Given the description of an element on the screen output the (x, y) to click on. 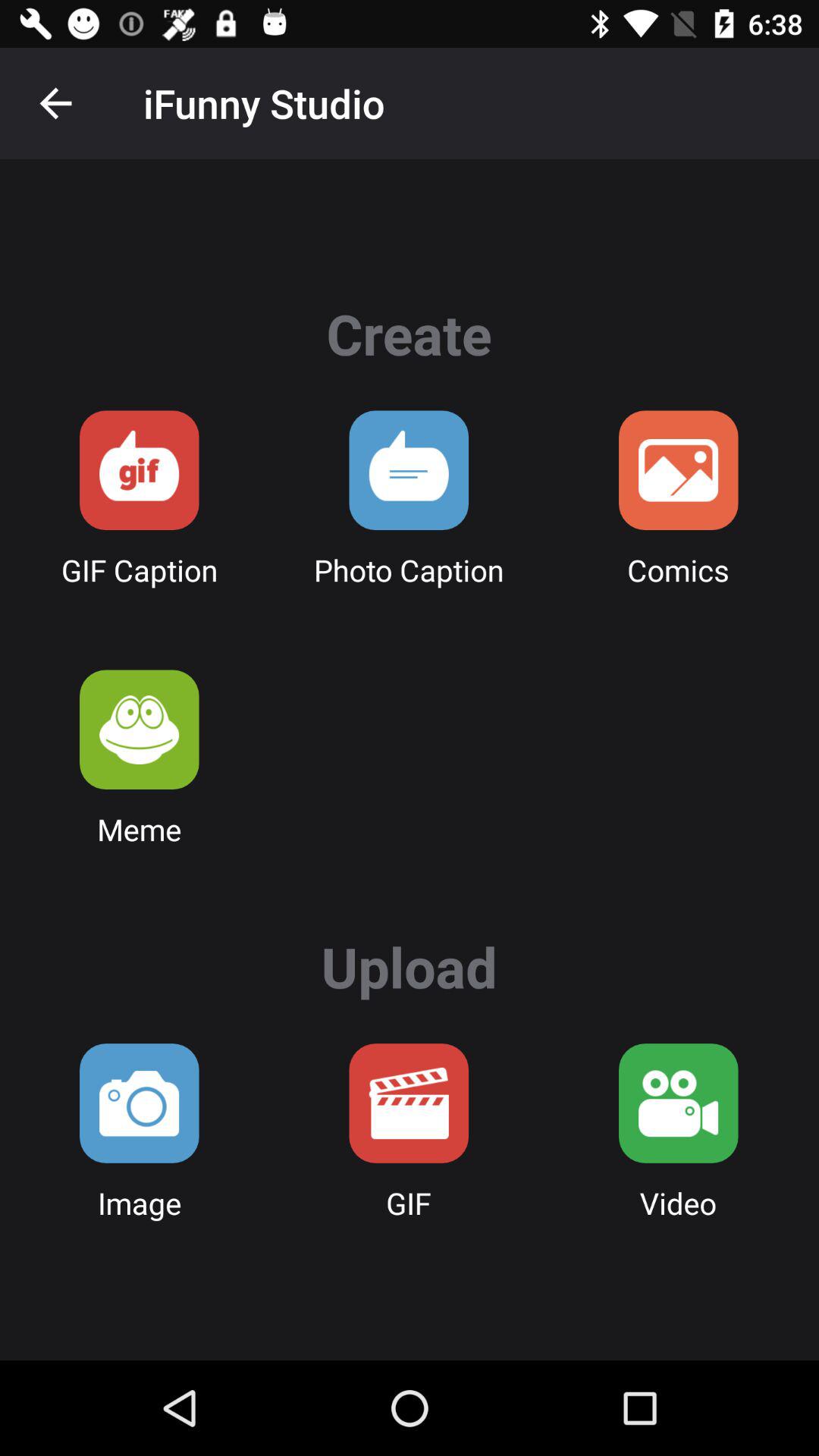
create with cartoon style (678, 470)
